Given the description of an element on the screen output the (x, y) to click on. 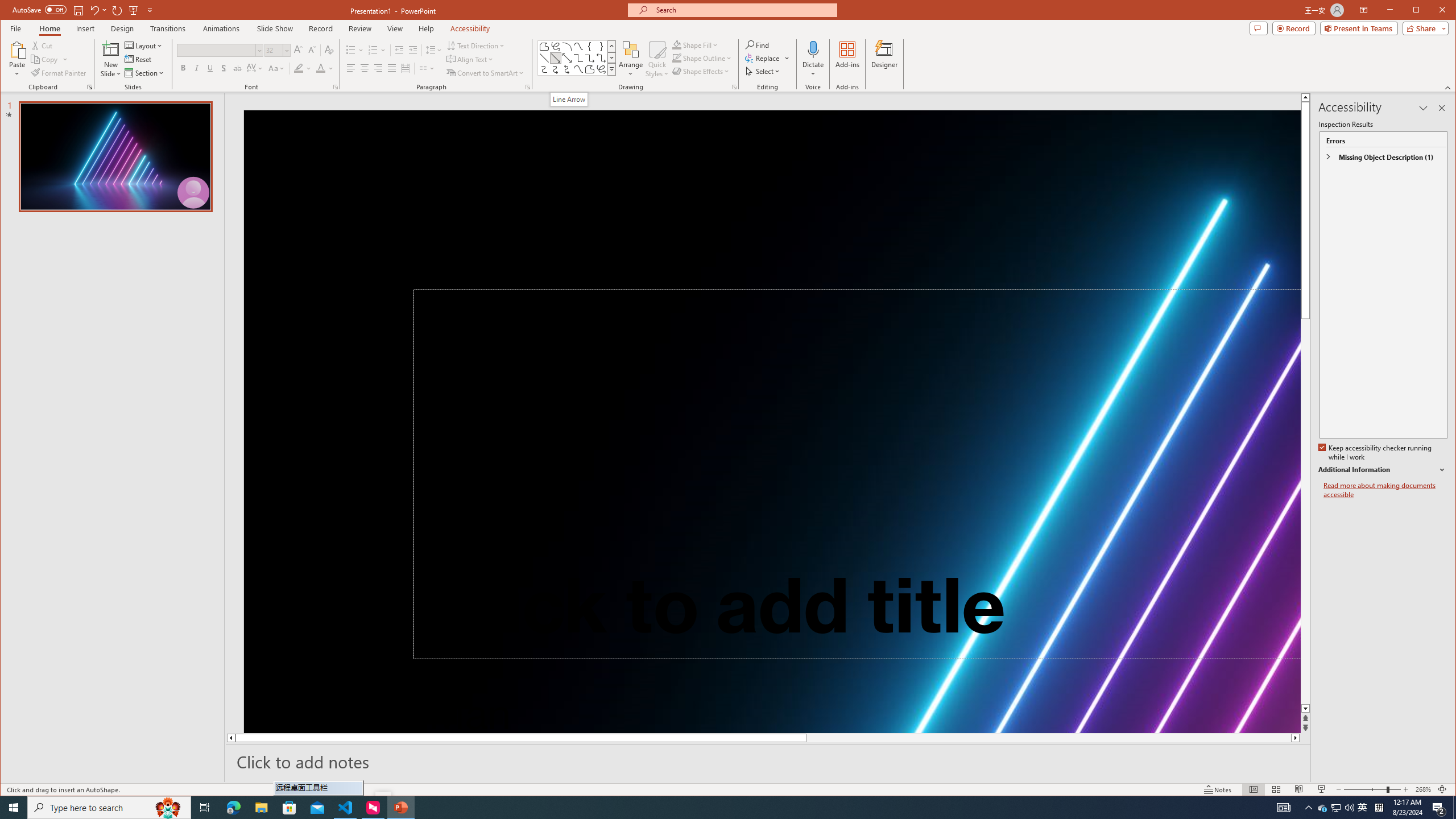
Connector: Elbow Double-Arrow (601, 57)
